Given the description of an element on the screen output the (x, y) to click on. 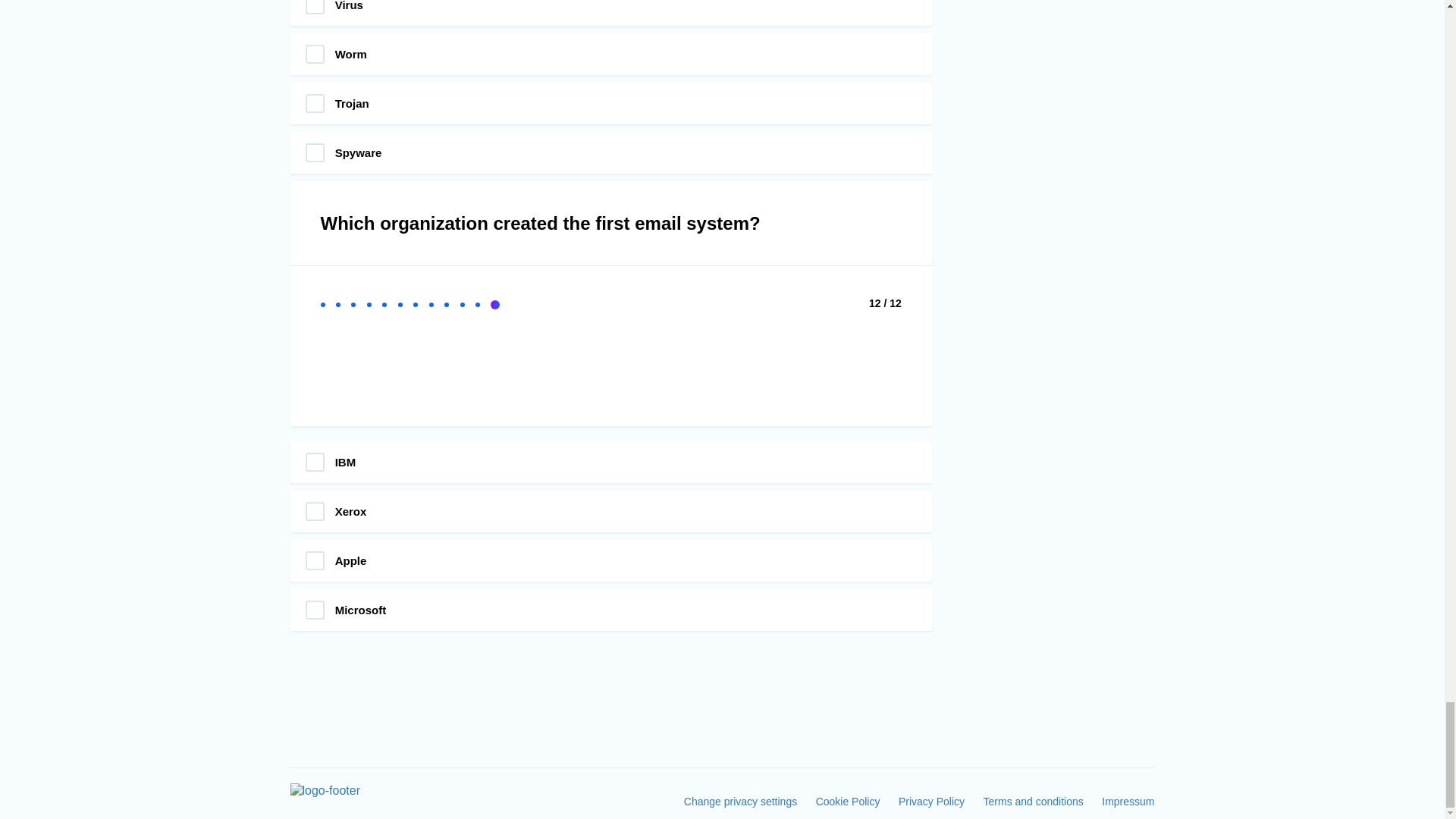
Privacy Policy (930, 801)
Change privacy settings (740, 801)
Impressum (1128, 801)
Cookie Policy (847, 801)
Terms and conditions (1033, 801)
